Given the description of an element on the screen output the (x, y) to click on. 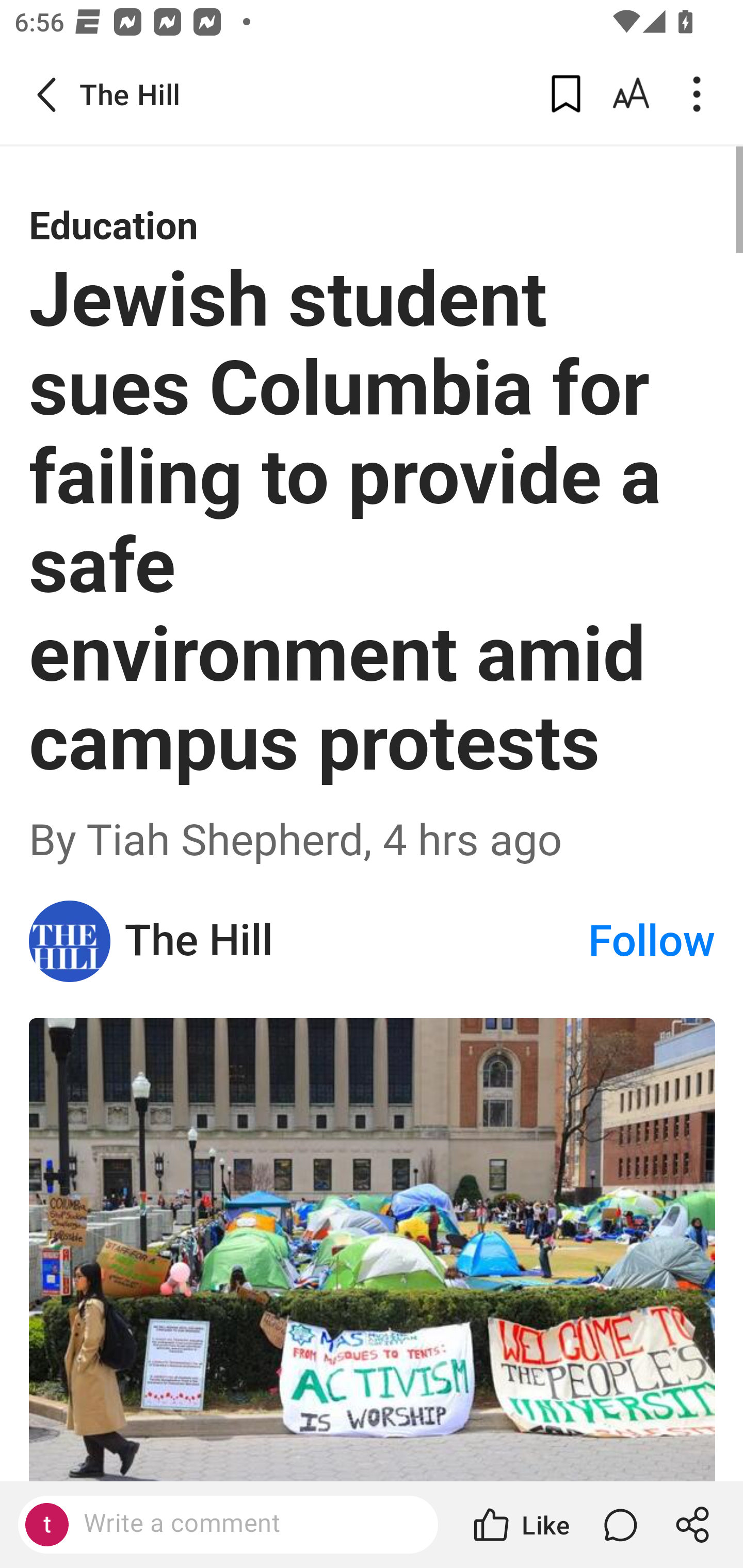
The (70, 939)
The Hill (355, 941)
Follow (651, 941)
Like (519, 1524)
Write a comment (245, 1523)
